Given the description of an element on the screen output the (x, y) to click on. 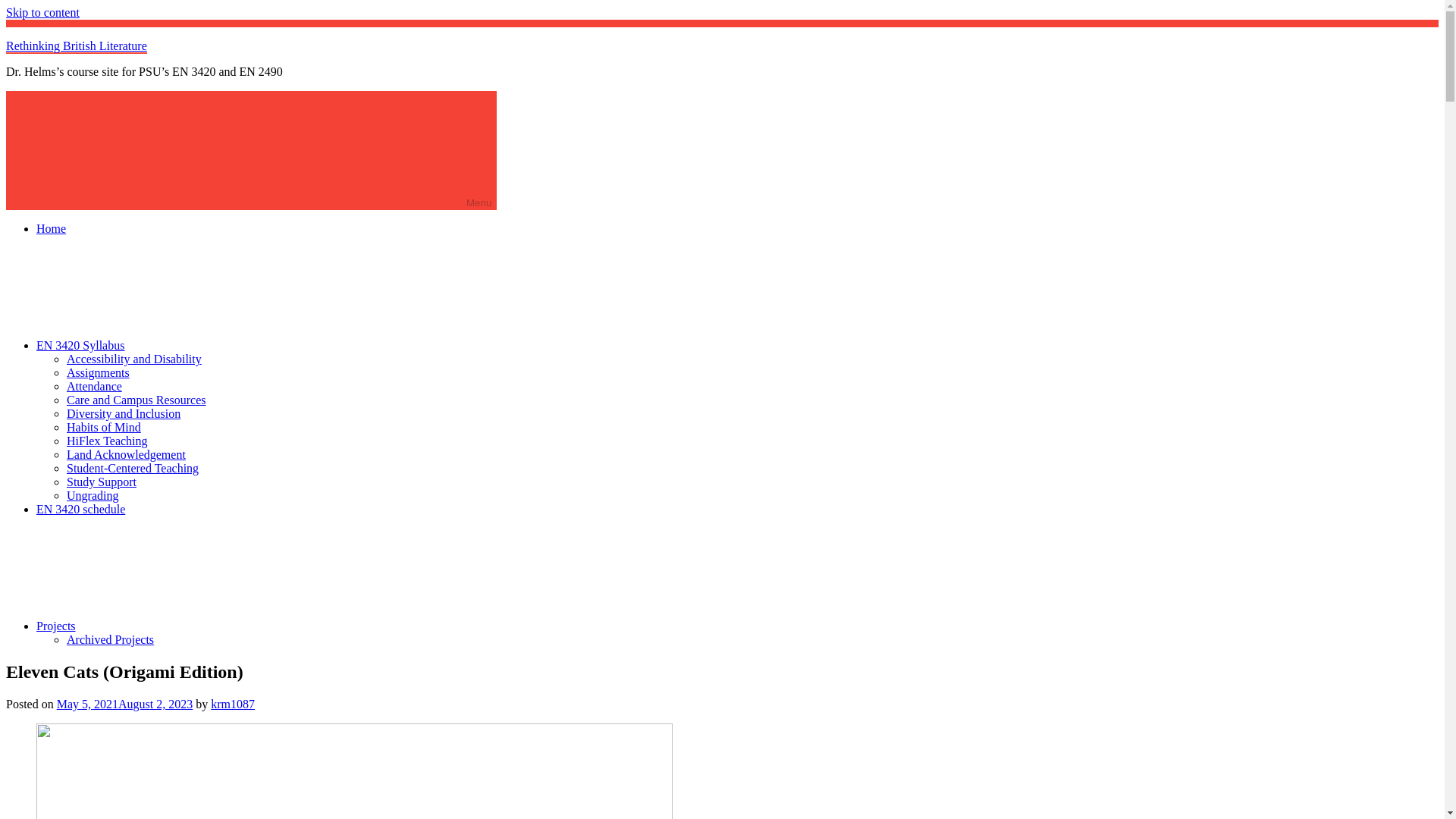
Study Support (101, 481)
Care and Campus Resources (136, 399)
May 5, 2021August 2, 2023 (124, 703)
Menu (250, 149)
Accessibility and Disability (134, 358)
Ungrading (91, 495)
Land Acknowledgement (126, 454)
Attendance (94, 386)
Home (50, 228)
Student-Centered Teaching (132, 468)
HiFlex Teaching (107, 440)
Rethinking British Literature (76, 46)
Diversity and Inclusion (123, 413)
Archived Projects (110, 639)
Skip to content (42, 11)
